Given the description of an element on the screen output the (x, y) to click on. 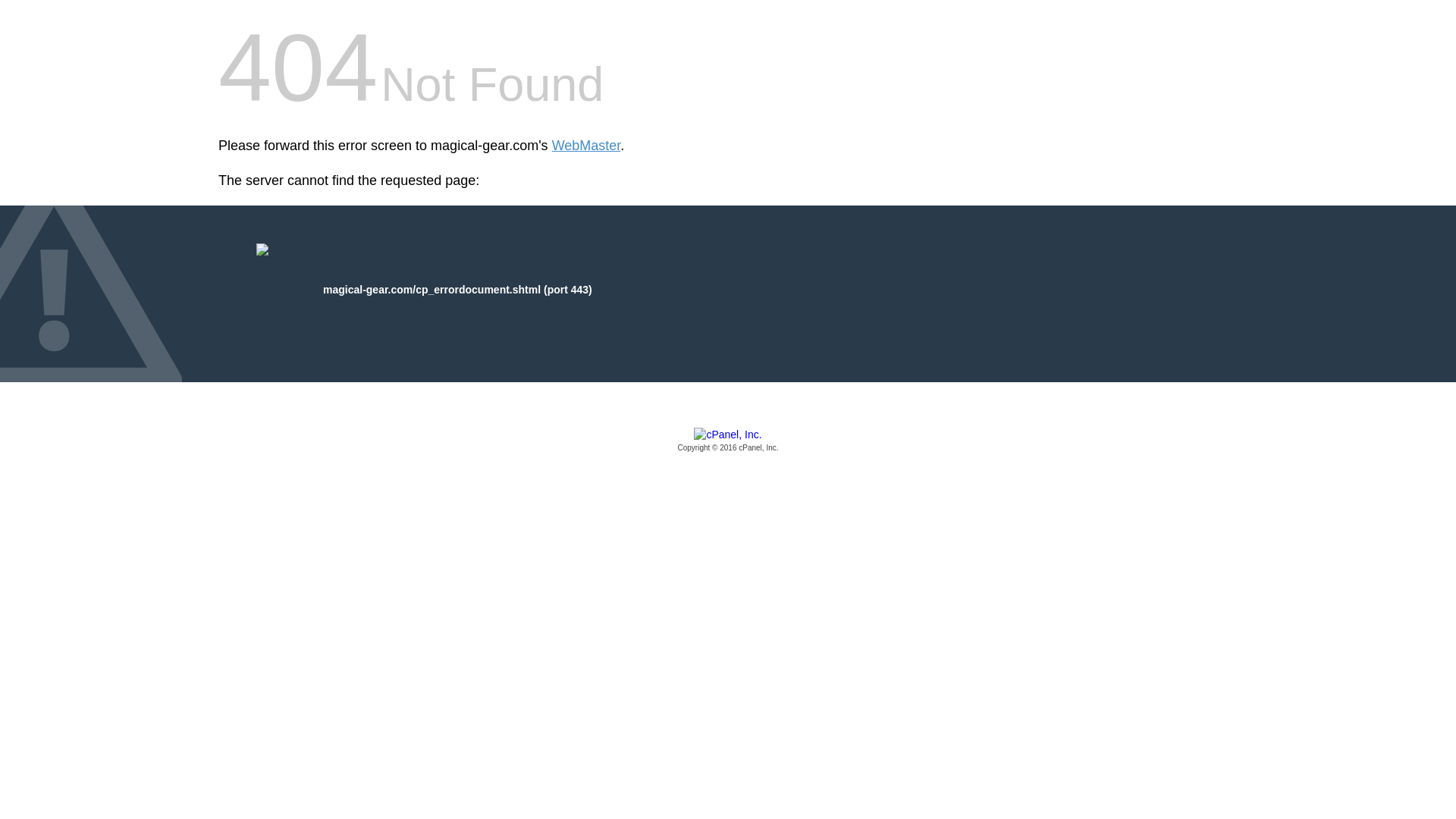
WebMaster (586, 145)
cPanel, Inc. (727, 440)
